Given the description of an element on the screen output the (x, y) to click on. 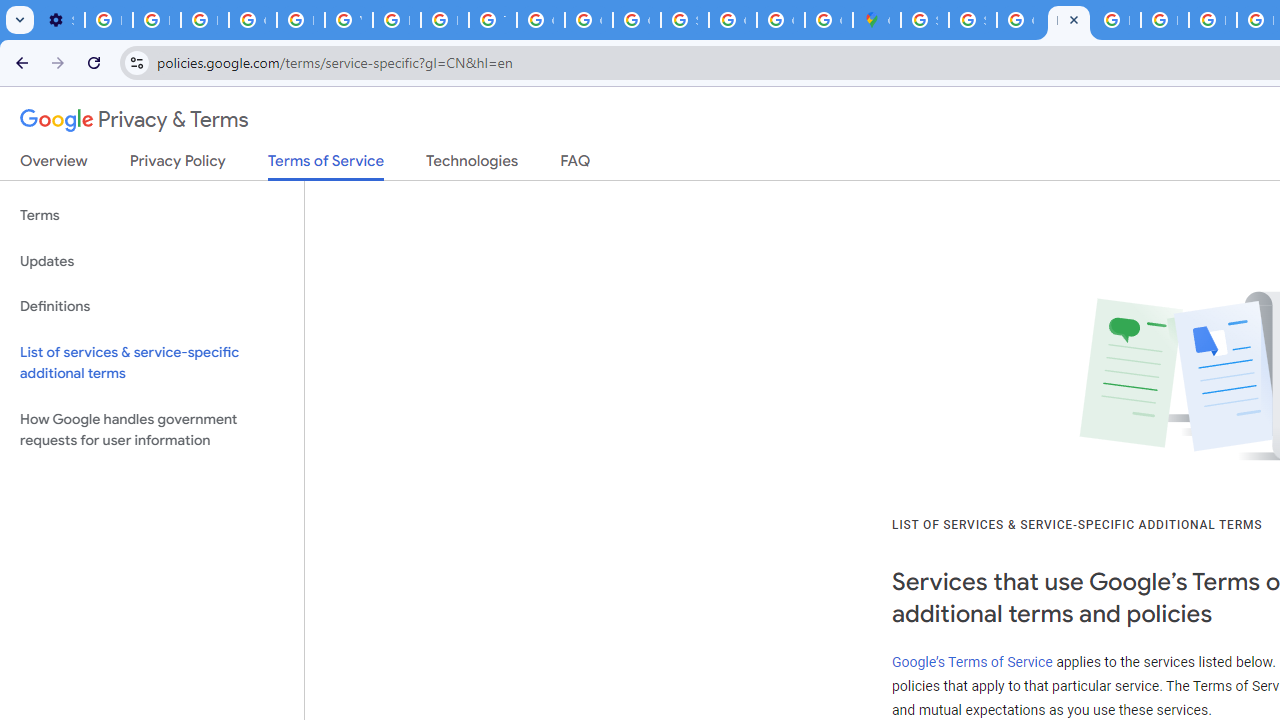
Privacy Help Center - Policies Help (1164, 20)
Sign in - Google Accounts (924, 20)
Sign in - Google Accounts (684, 20)
Privacy Help Center - Policies Help (300, 20)
